Given the description of an element on the screen output the (x, y) to click on. 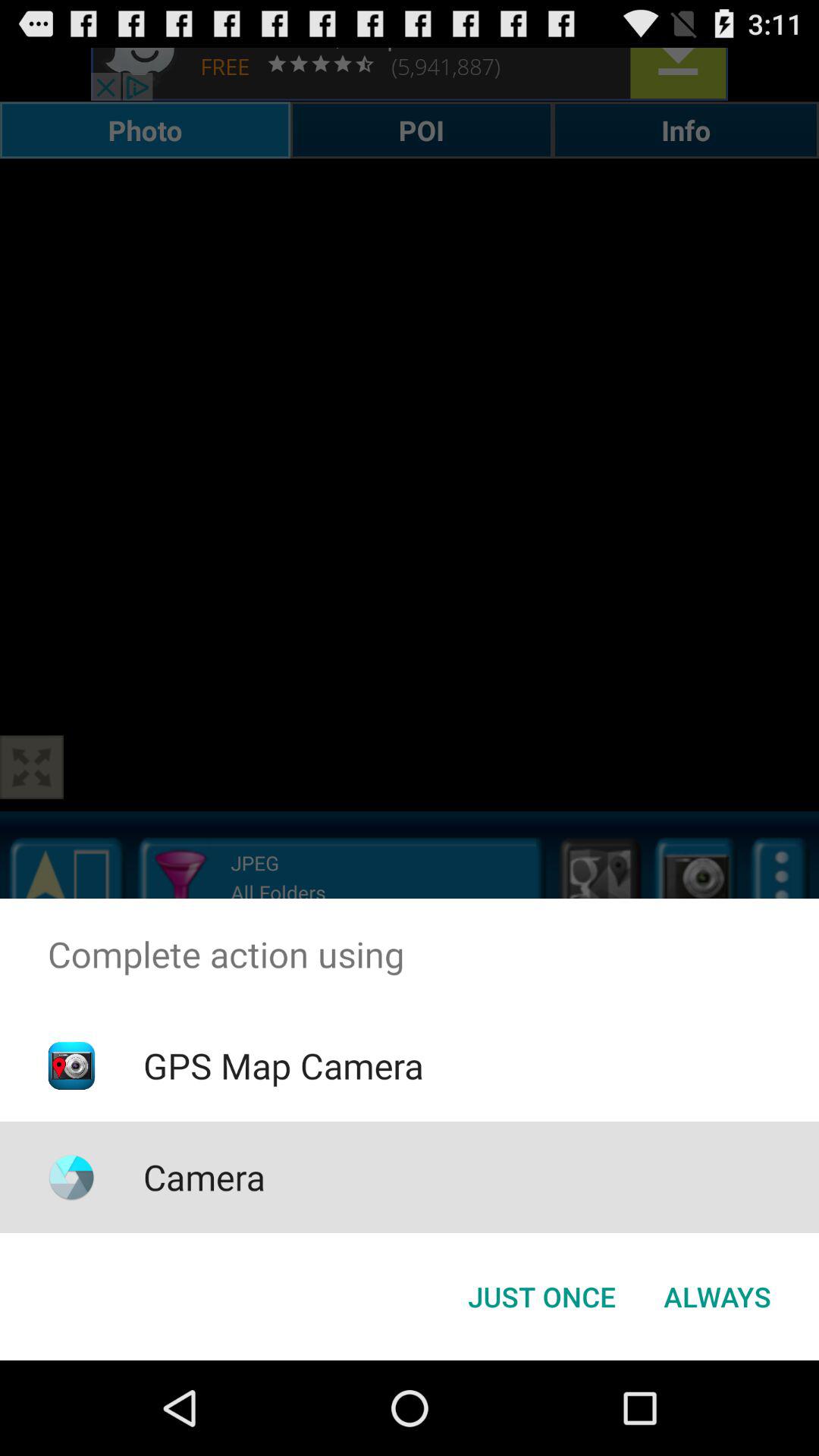
click the icon to the left of the always button (541, 1296)
